Given the description of an element on the screen output the (x, y) to click on. 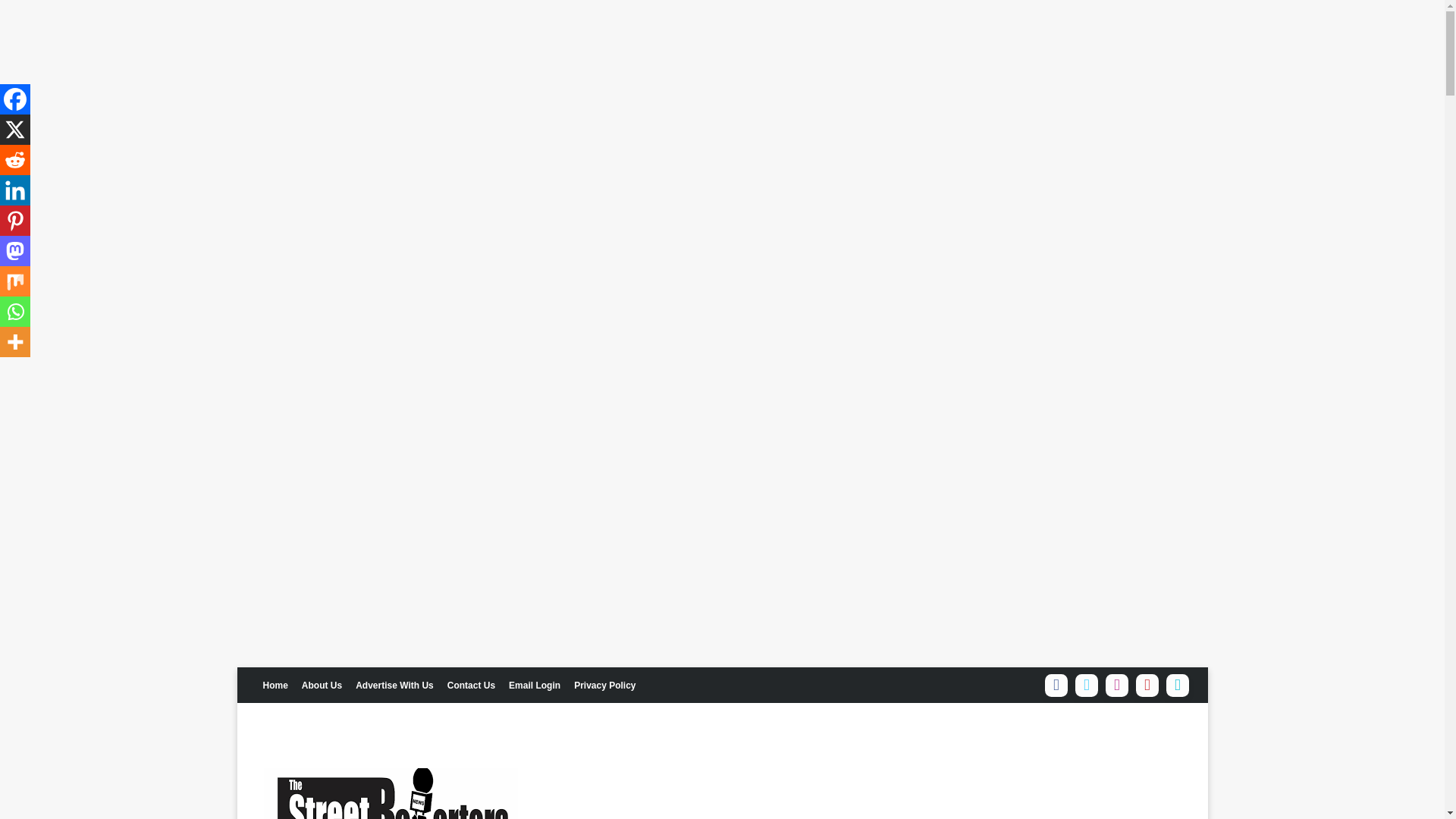
Email Login (534, 684)
Contact Us (471, 684)
Home (275, 684)
about us (322, 684)
home (275, 684)
Advertise With Us (395, 684)
Privacy Policy (604, 684)
check mail (534, 684)
contact us (471, 684)
About Us (322, 684)
